Given the description of an element on the screen output the (x, y) to click on. 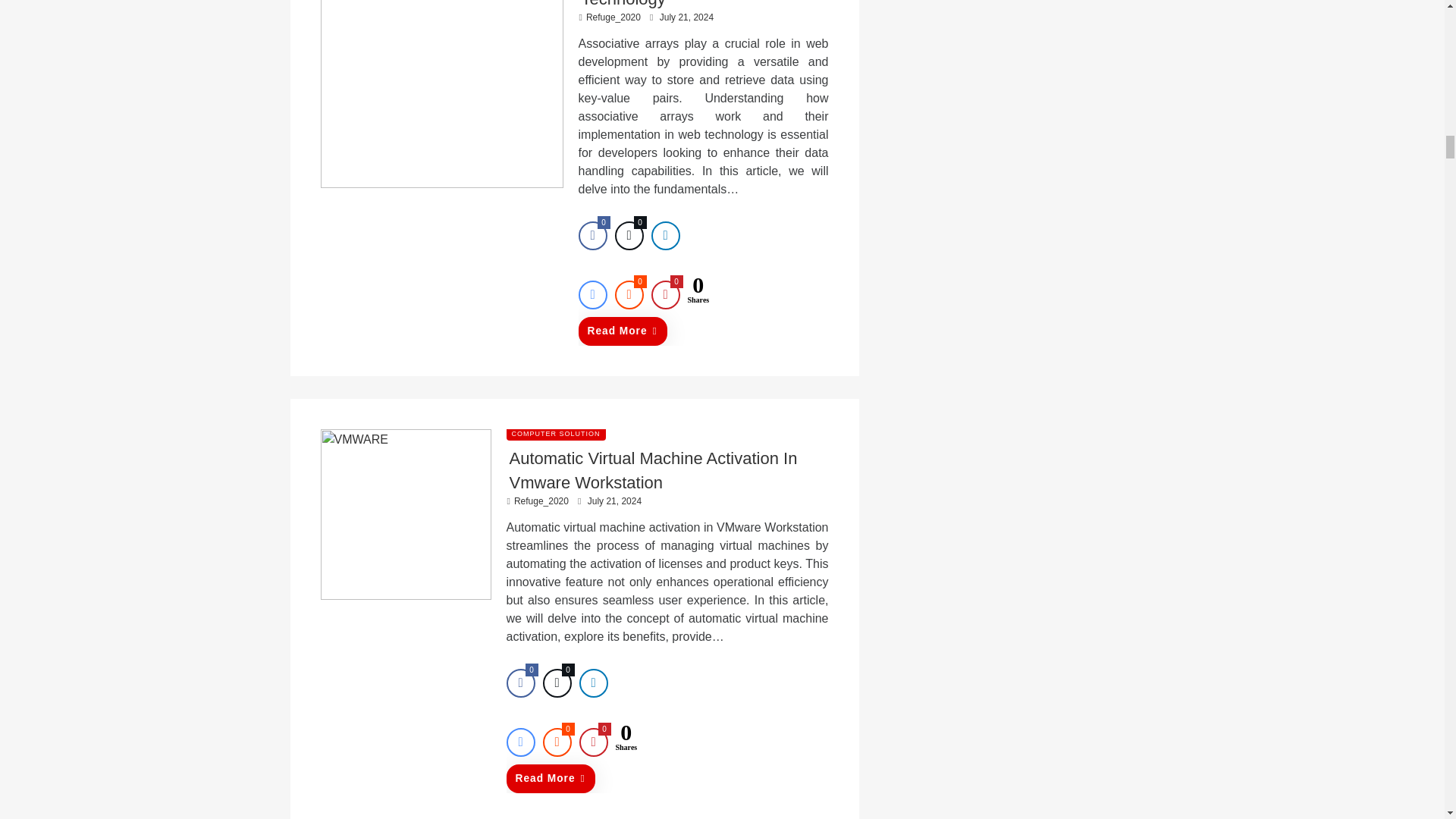
What Is Associative Array In Web Technology 17 (441, 94)
